Given the description of an element on the screen output the (x, y) to click on. 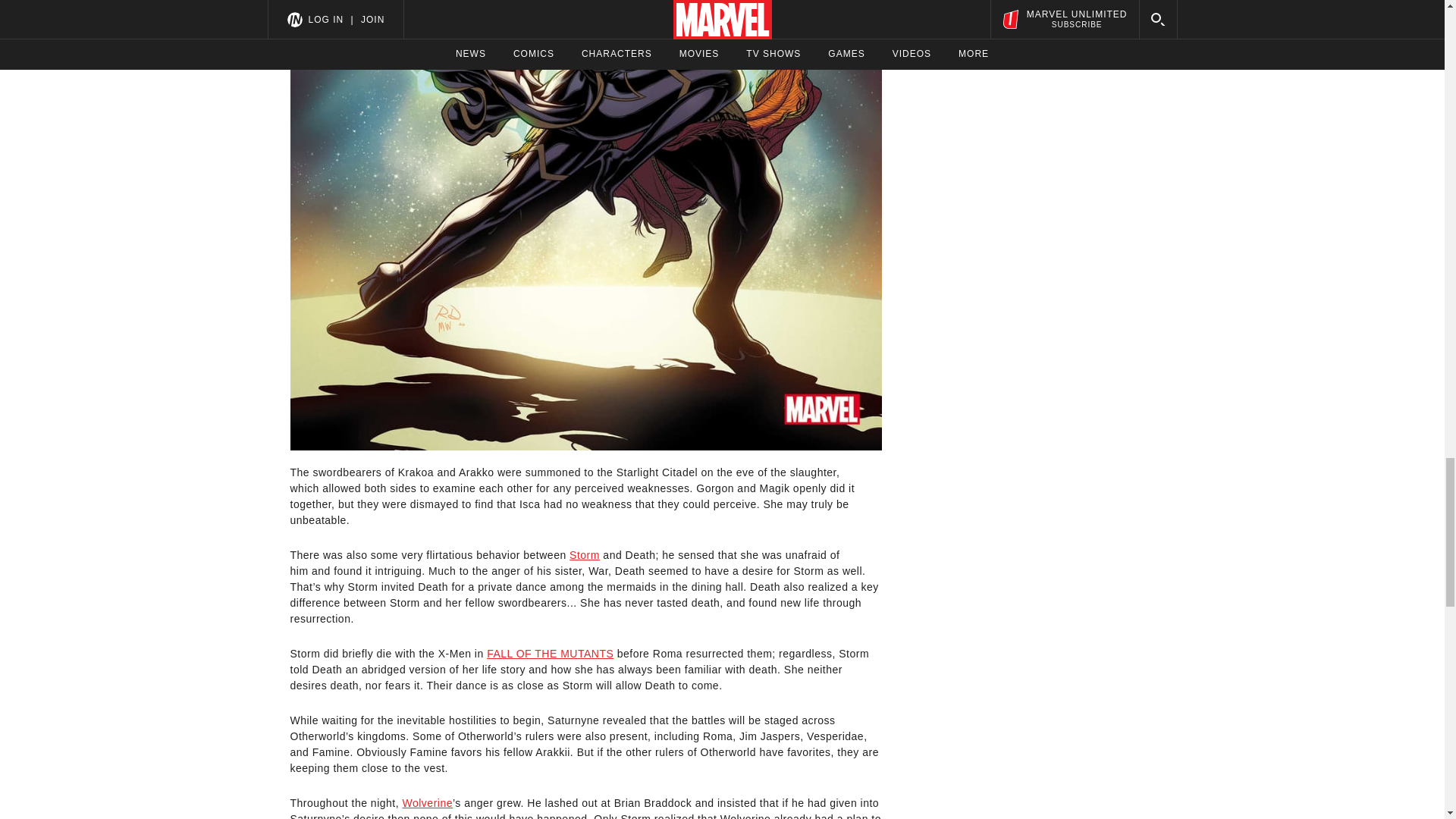
Storm (584, 554)
Wolverine (426, 802)
FALL OF THE MUTANTS (549, 653)
